Given the description of an element on the screen output the (x, y) to click on. 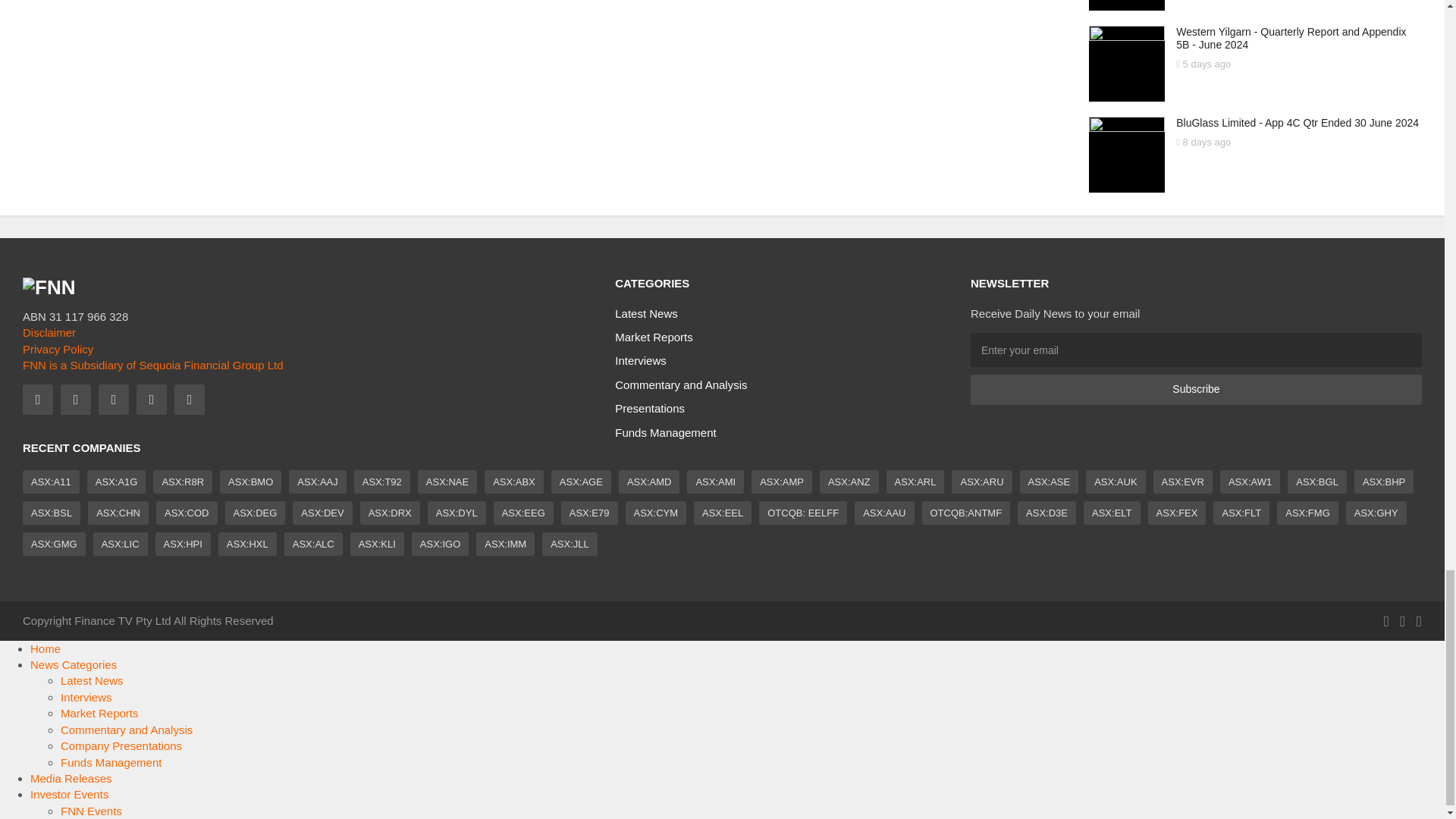
Finance News Network (49, 286)
